Given the description of an element on the screen output the (x, y) to click on. 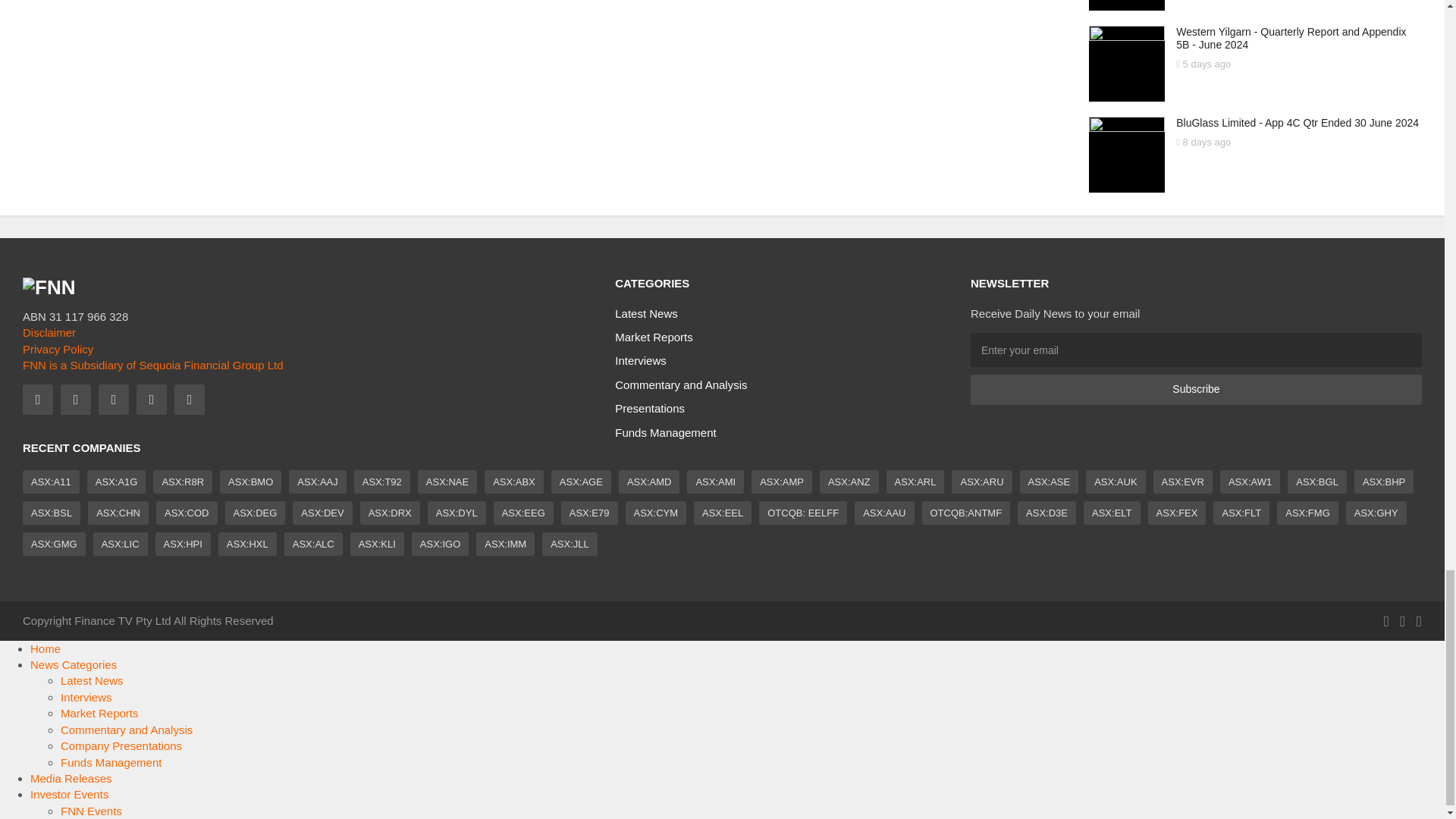
Finance News Network (49, 286)
